Given the description of an element on the screen output the (x, y) to click on. 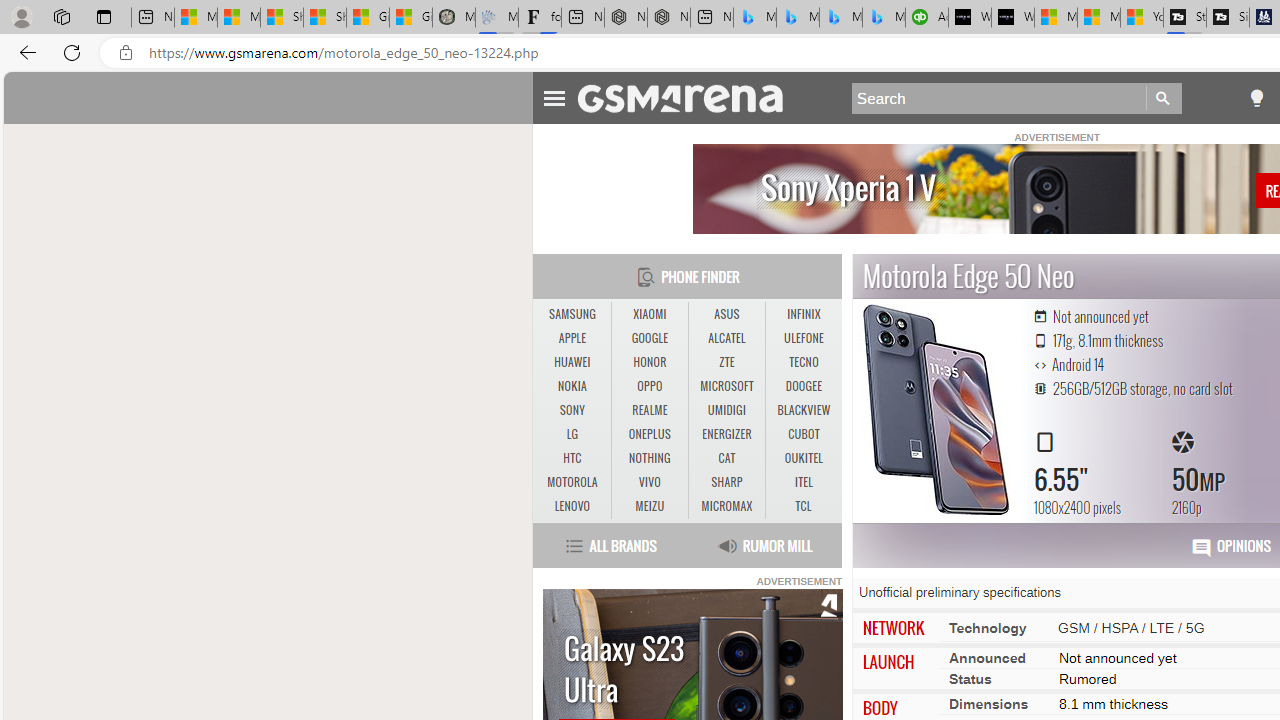
ONEPLUS (649, 434)
GOOGLE (649, 339)
Go (1163, 97)
MEIZU (649, 506)
MEIZU (649, 506)
LENOVO (571, 506)
TECNO (803, 362)
NOTHING (649, 457)
BLACKVIEW (803, 411)
ZTE (726, 362)
NOTHING (649, 458)
Manatee Mortality Statistics | FWC (453, 17)
